Given the description of an element on the screen output the (x, y) to click on. 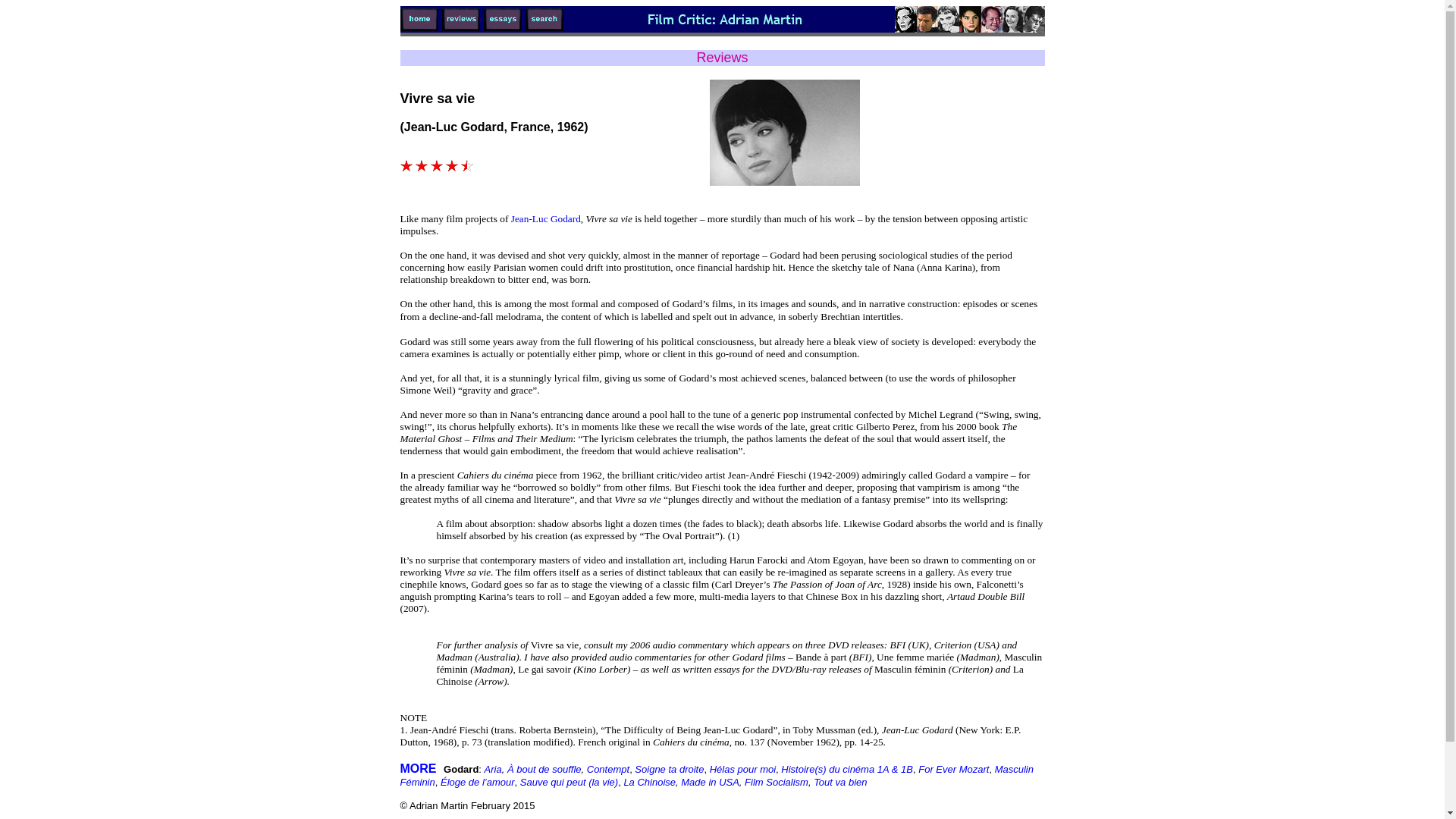
Film Socialism Element type: text (776, 781)
La Chinoise Element type: text (649, 781)
Contempt Element type: text (607, 769)
Aria Element type: text (493, 769)
Reviews Element type: text (721, 57)
Made in USA Element type: text (709, 781)
Sauve qui peut (la vie) Element type: text (569, 781)
For Ever Mozart Element type: text (953, 769)
Jean-Luc Godard Element type: text (545, 218)
Soigne ta droite Element type: text (668, 769)
Tout va bien Element type: text (839, 781)
